Given the description of an element on the screen output the (x, y) to click on. 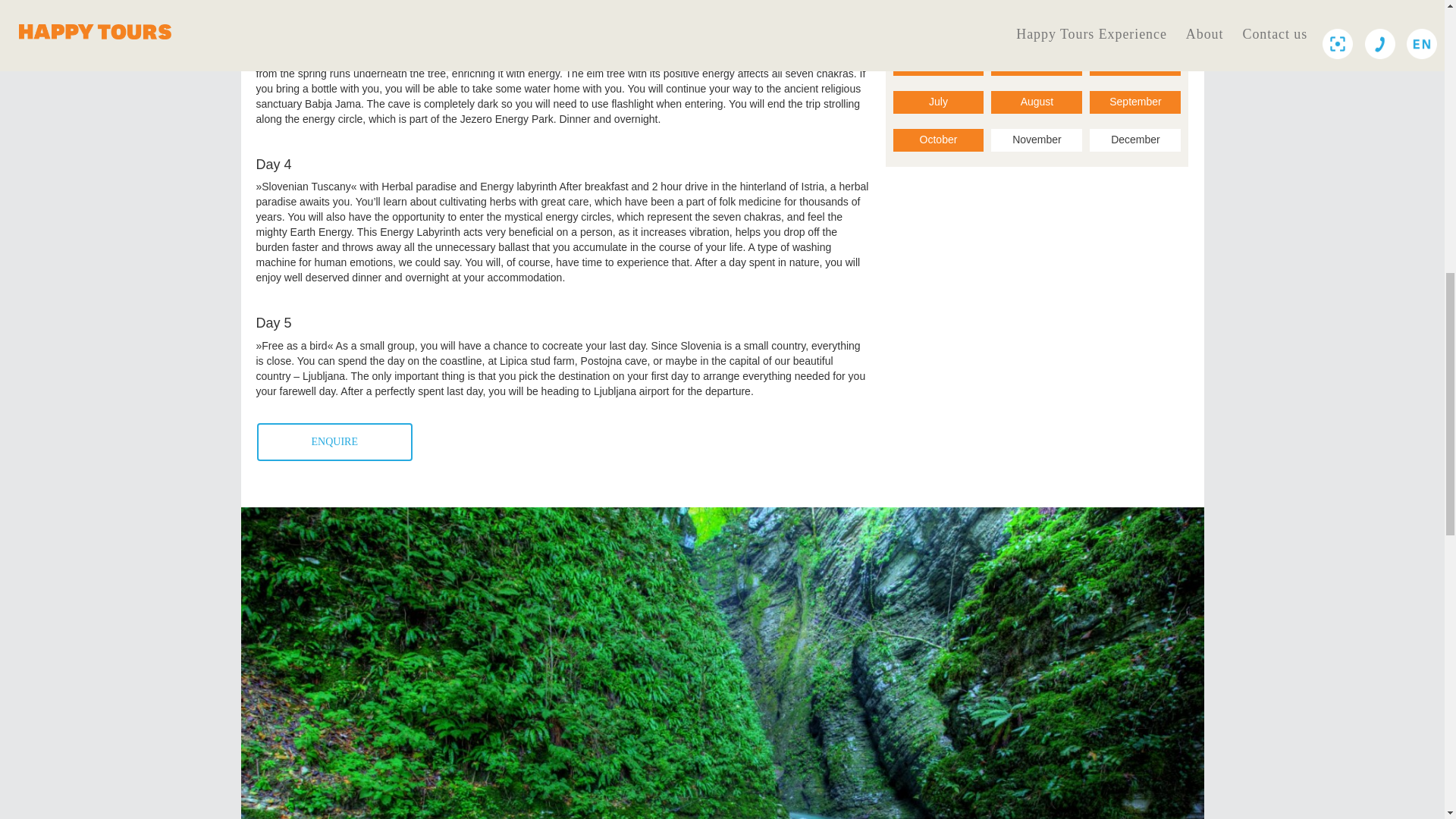
ENQUIRE (334, 442)
